Given the description of an element on the screen output the (x, y) to click on. 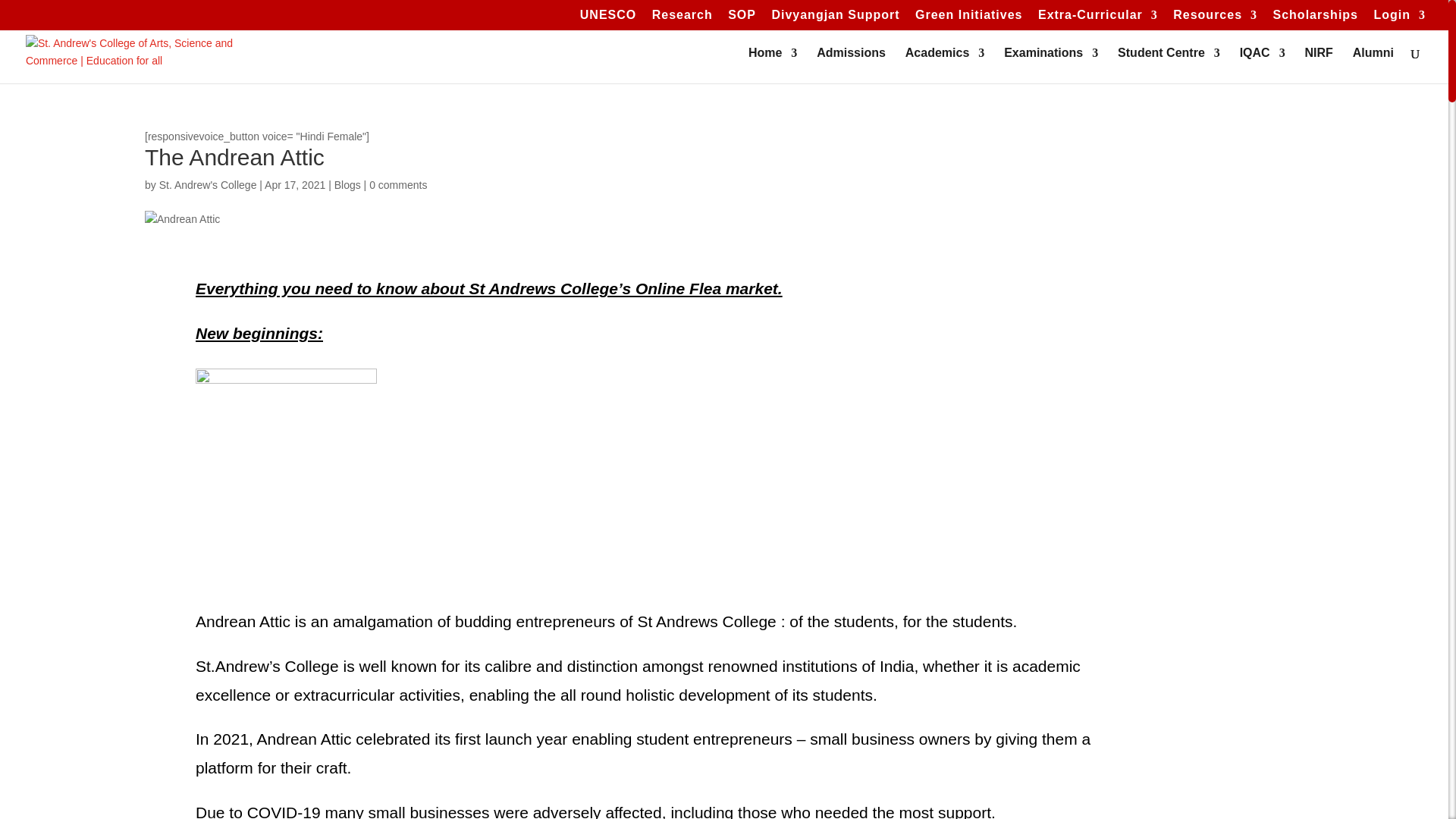
Scholarships (1315, 19)
Extra-Cuerricular (1097, 19)
Social Outreach Programme (741, 19)
Home (772, 65)
Posts by St. Andrew's College (207, 184)
Green Initiatives (969, 19)
Research (682, 19)
UNESCO (607, 19)
Resources (1215, 19)
Divyangjan Support (835, 19)
